Given the description of an element on the screen output the (x, y) to click on. 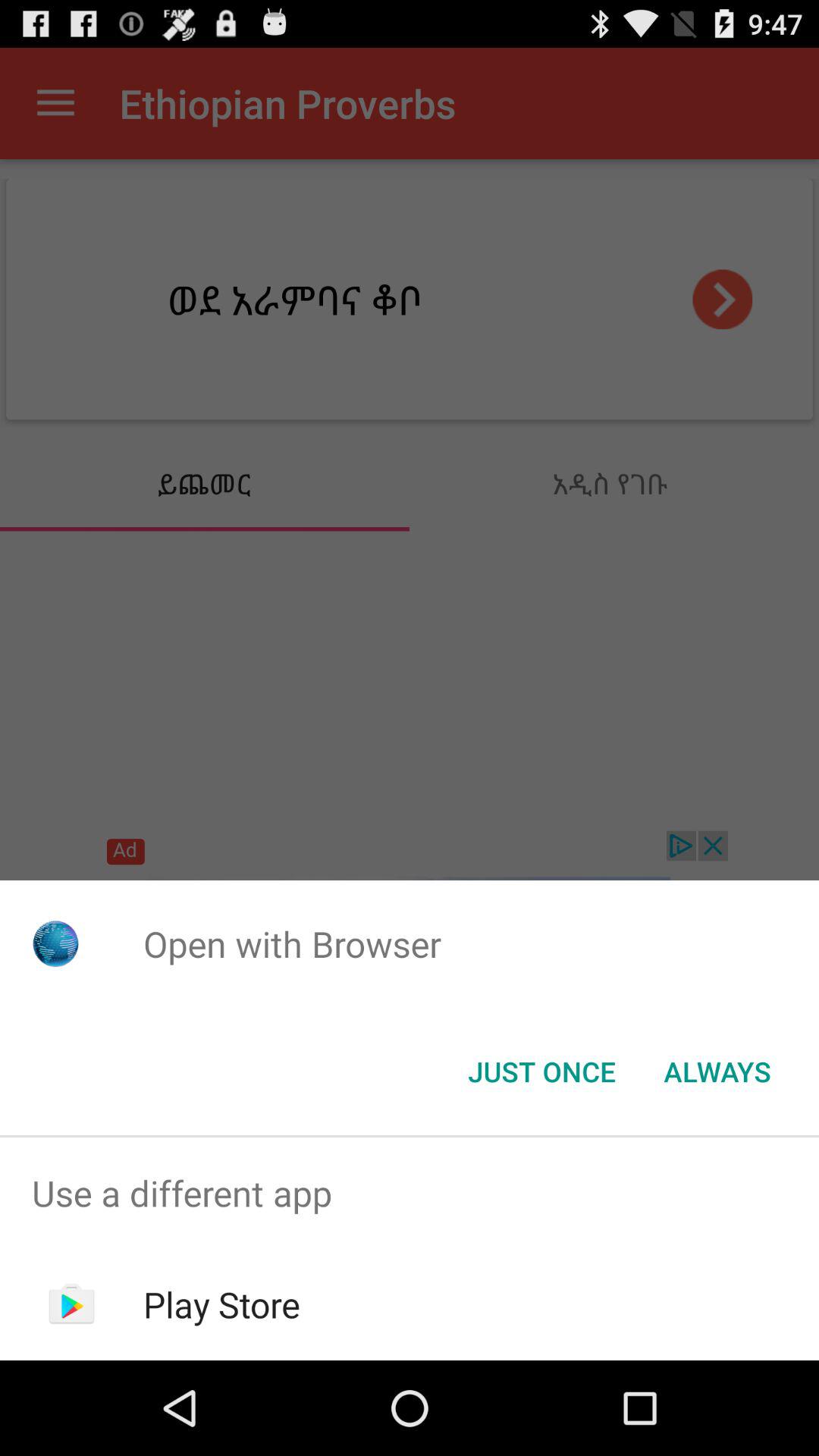
turn off the item below open with browser icon (717, 1071)
